Given the description of an element on the screen output the (x, y) to click on. 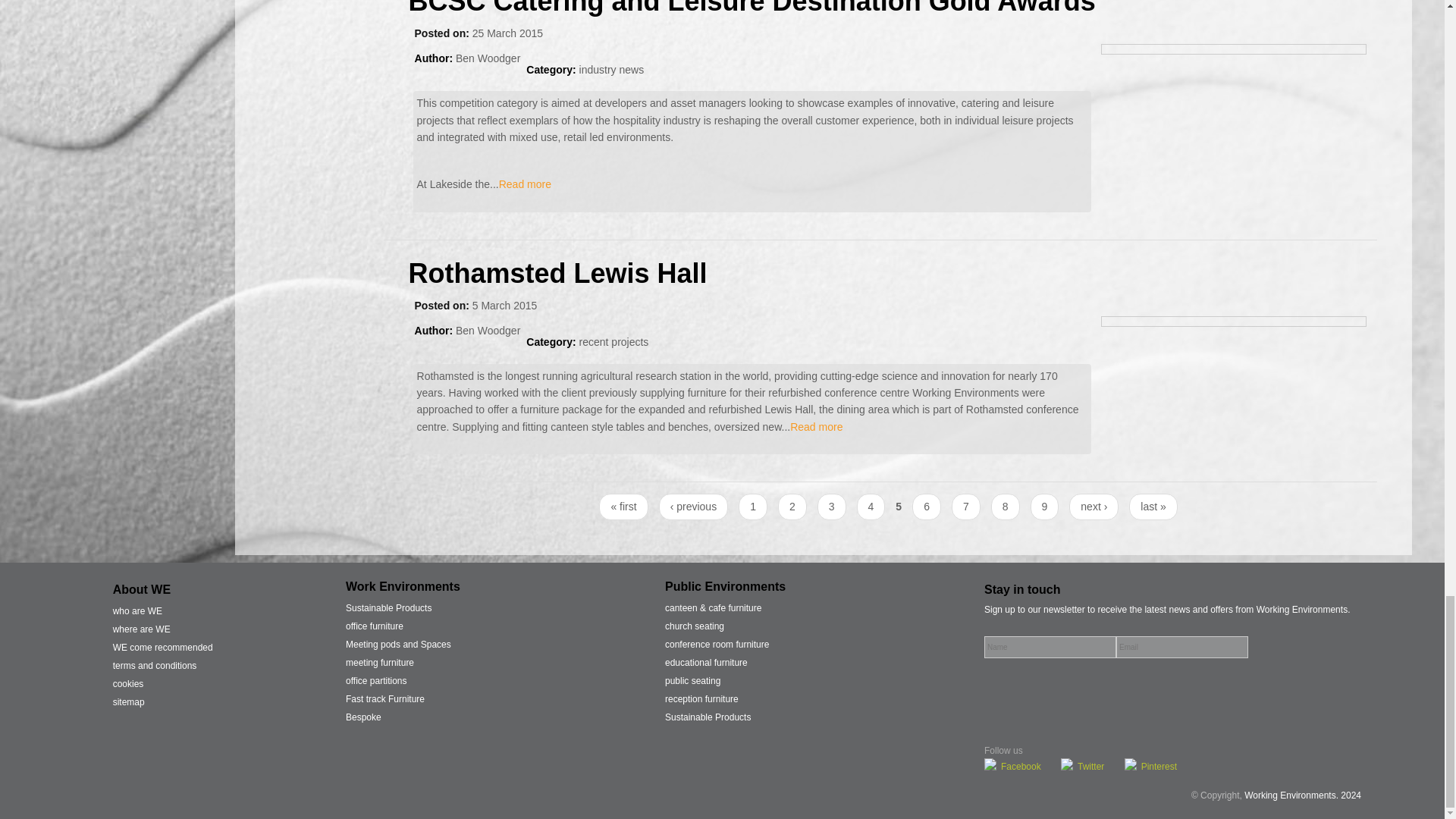
Go to page 8 (1005, 506)
Go to next page (1093, 506)
Go to previous page (693, 506)
Go to page 4 (871, 506)
Go to page 9 (1044, 506)
Go to page 2 (791, 506)
Go to page 6 (926, 506)
Go to page 3 (830, 506)
Submit (1258, 647)
Go to page 7 (965, 506)
Go to last page (1152, 506)
Go to page 1 (752, 506)
Go to first page (622, 506)
